Given the description of an element on the screen output the (x, y) to click on. 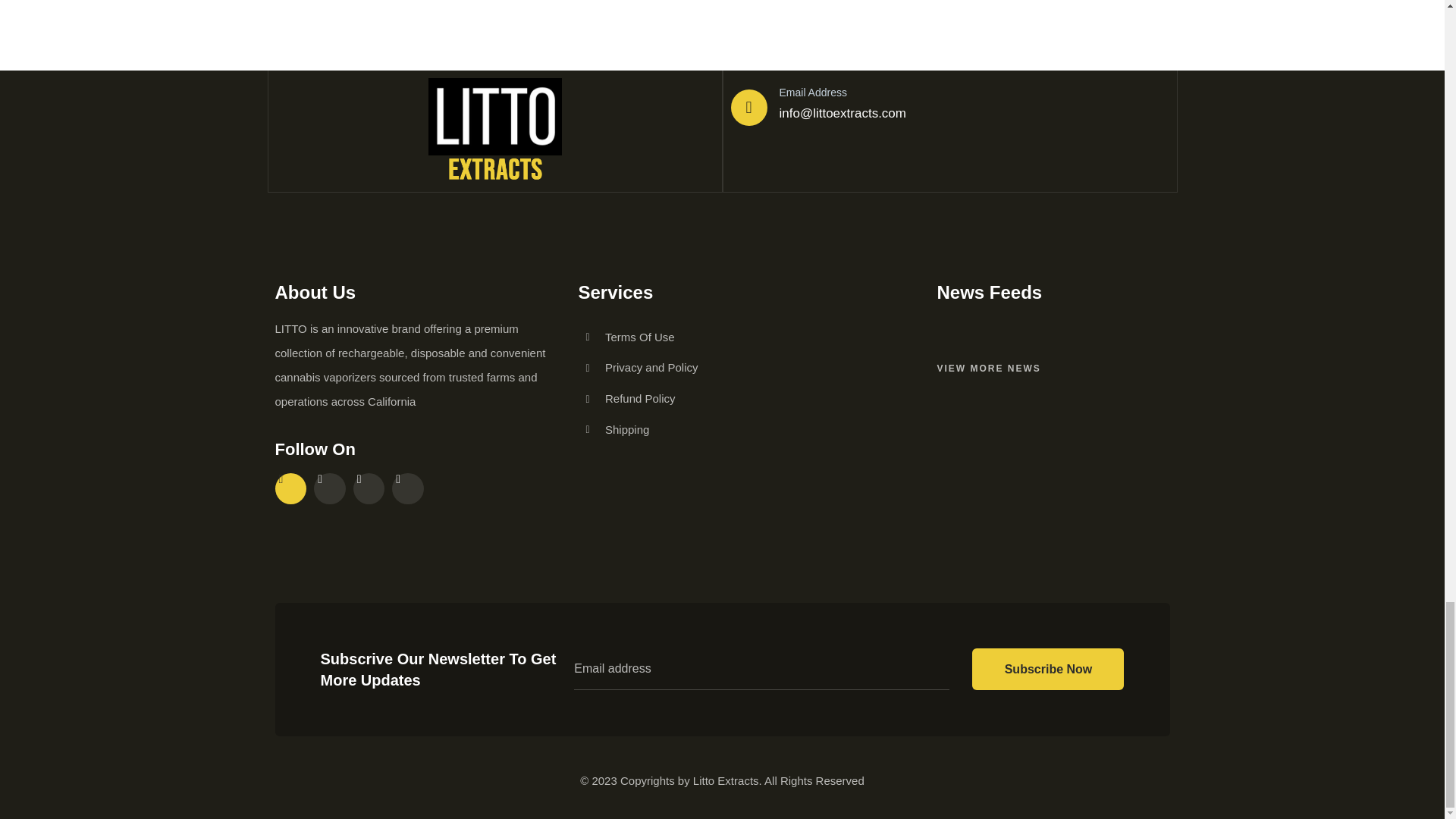
Subscribe Now (1048, 669)
Home (494, 130)
